Given the description of an element on the screen output the (x, y) to click on. 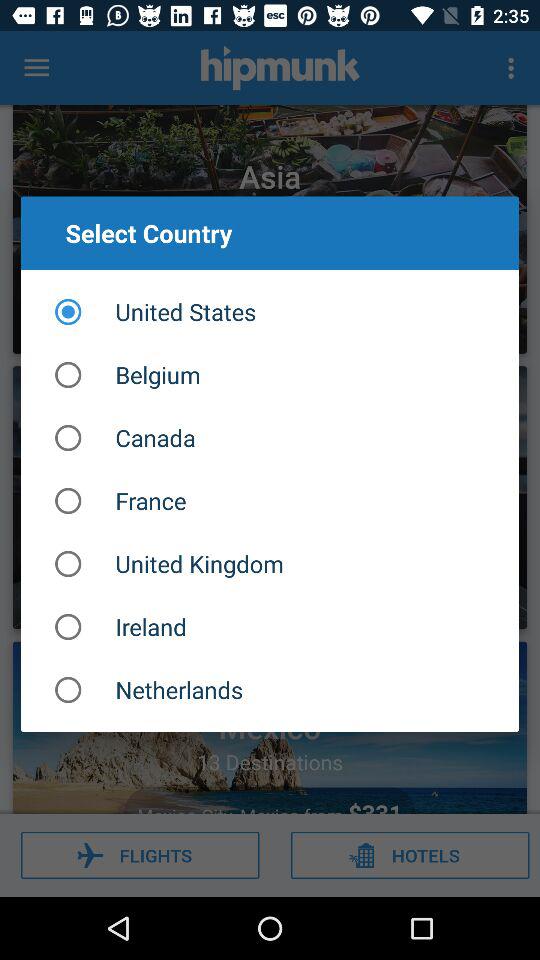
click united states (270, 311)
